Given the description of an element on the screen output the (x, y) to click on. 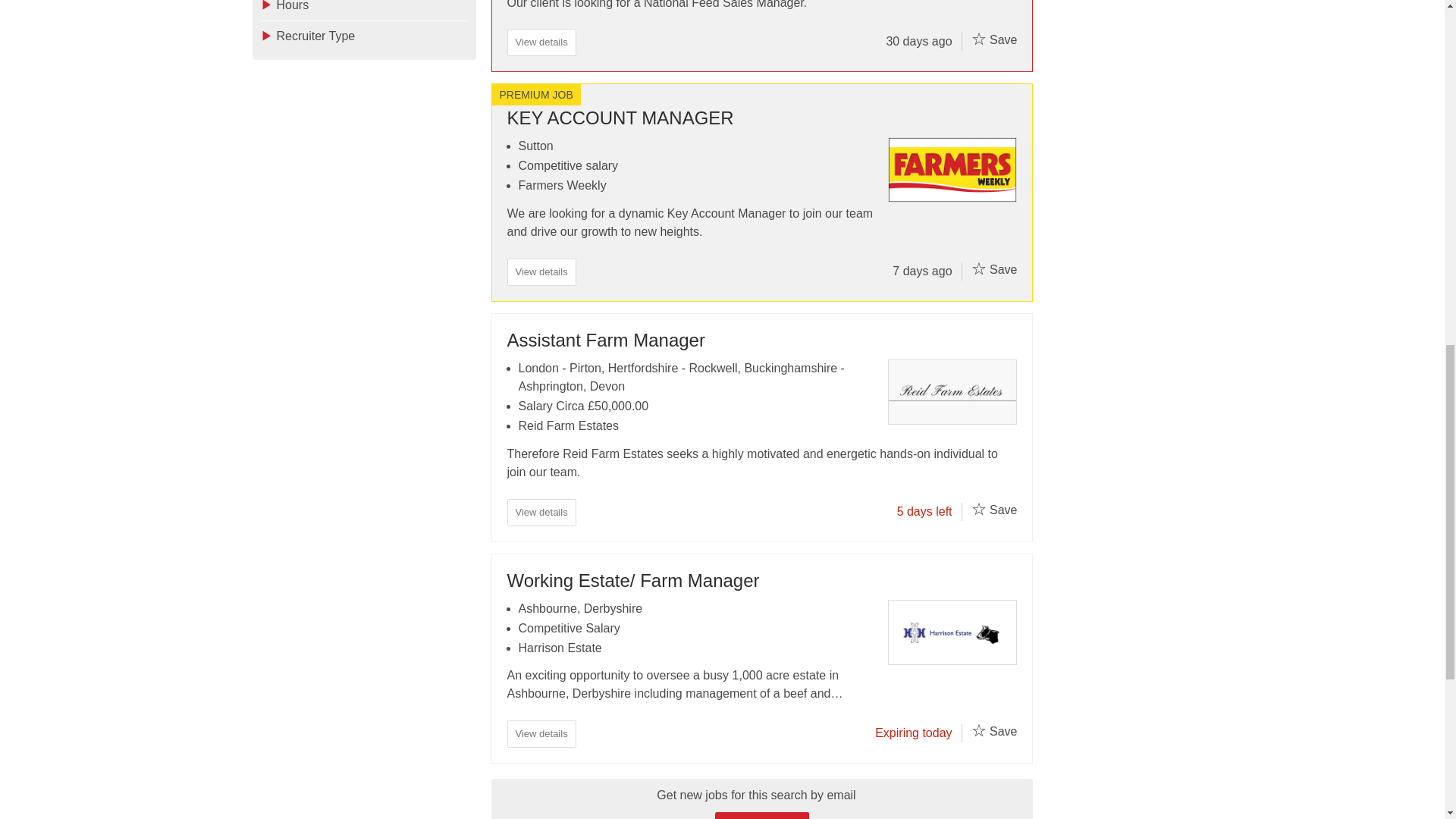
Add to shortlist (979, 729)
Add to shortlist (979, 38)
Recruiter Type (363, 35)
Add to shortlist (979, 268)
Hours (363, 10)
Add to shortlist (979, 508)
